Given the description of an element on the screen output the (x, y) to click on. 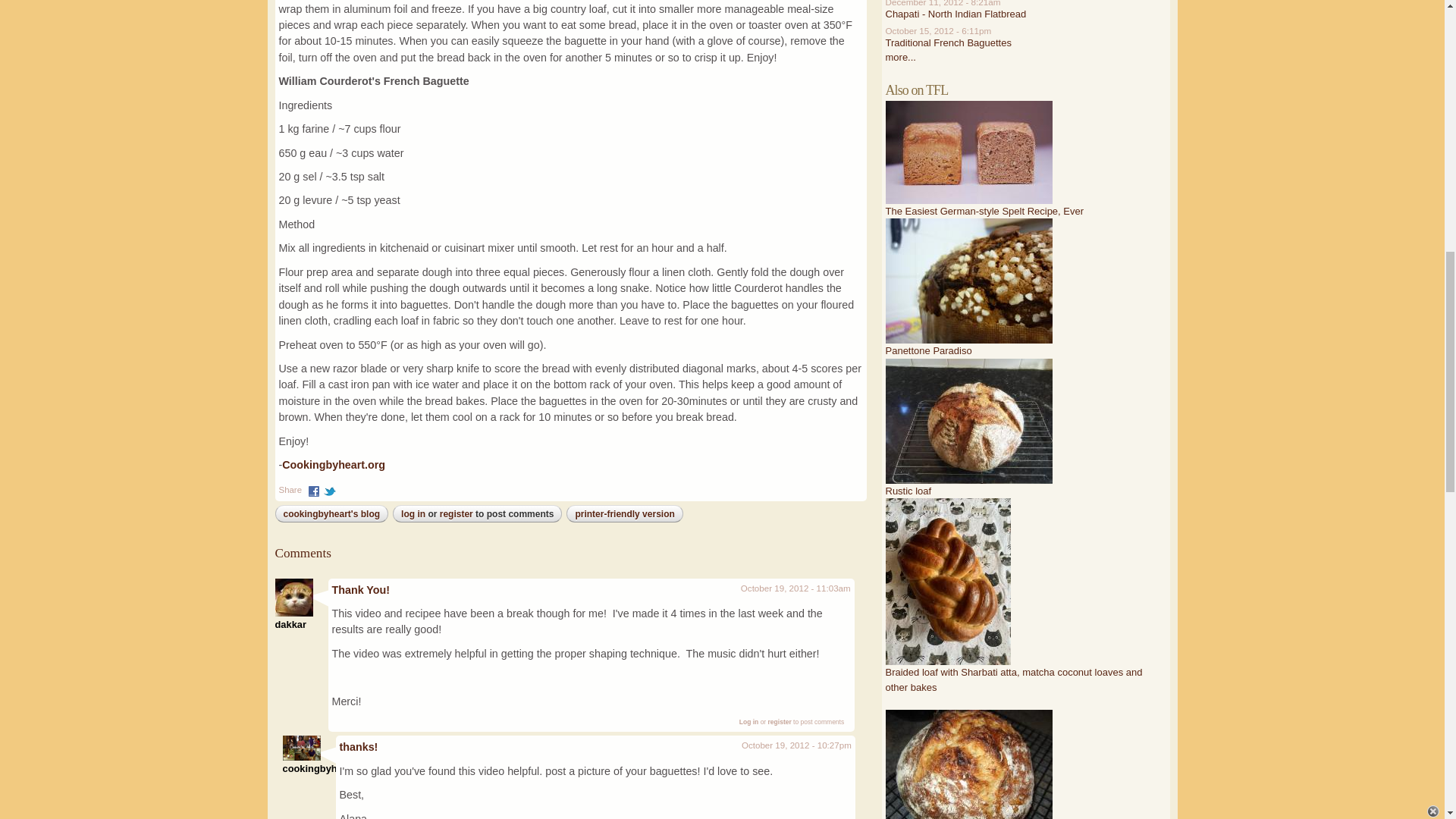
Share on Facebook (313, 489)
thanks! (358, 746)
printer-friendly version (624, 513)
cookingbyheart's picture (301, 747)
cookingbyheart's blog (331, 513)
Log in (748, 721)
Cookingbyheart.org (333, 464)
Thank You! (360, 589)
Read cookingbyheart's latest blog entries. (331, 513)
register (456, 513)
dakkar's picture (294, 597)
log in (413, 513)
Share this on Twitter (329, 489)
Display a printer-friendly version of this page. (624, 513)
register (780, 721)
